Given the description of an element on the screen output the (x, y) to click on. 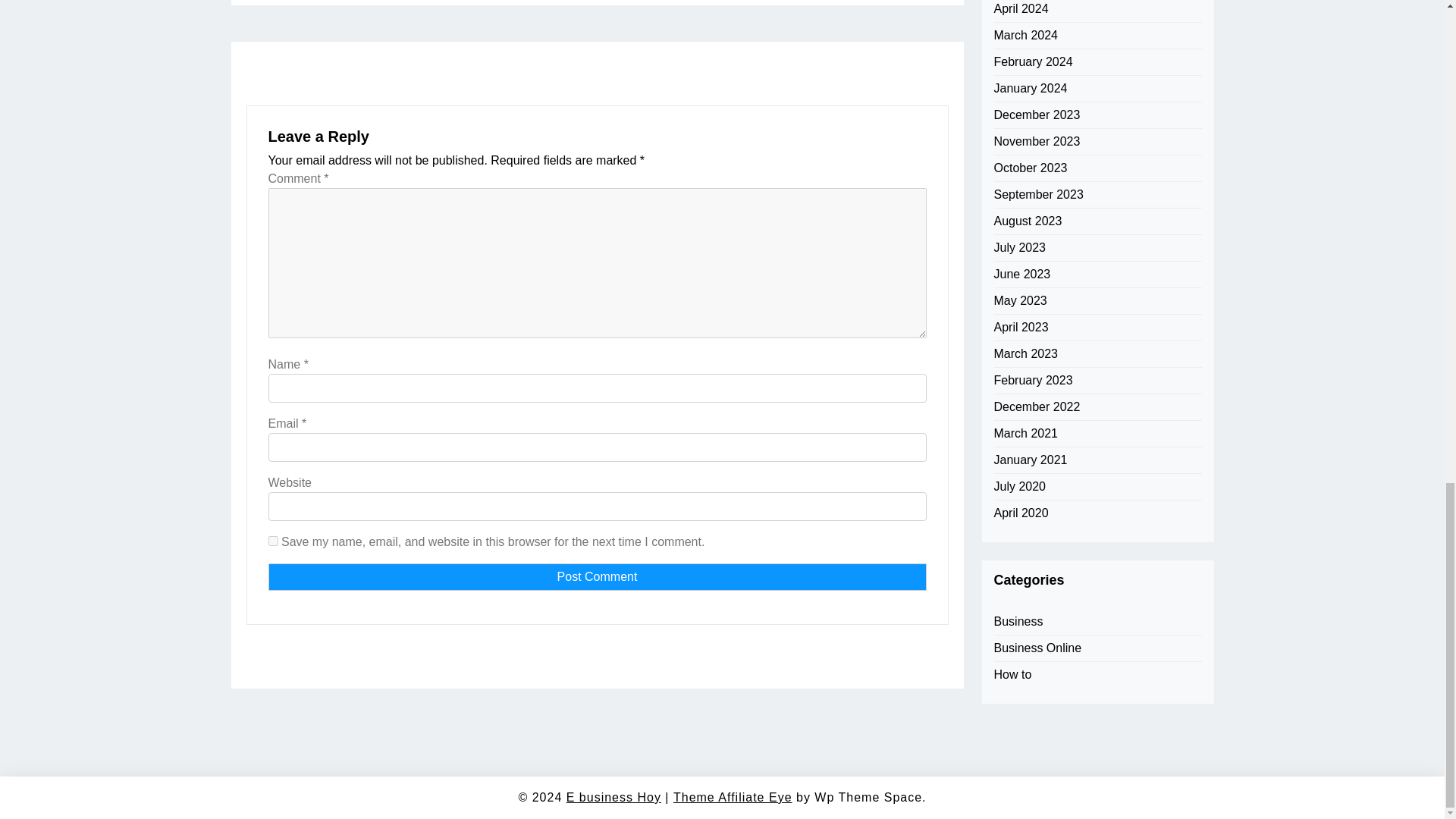
yes (272, 541)
Post Comment (596, 576)
Post Comment (596, 576)
